Given the description of an element on the screen output the (x, y) to click on. 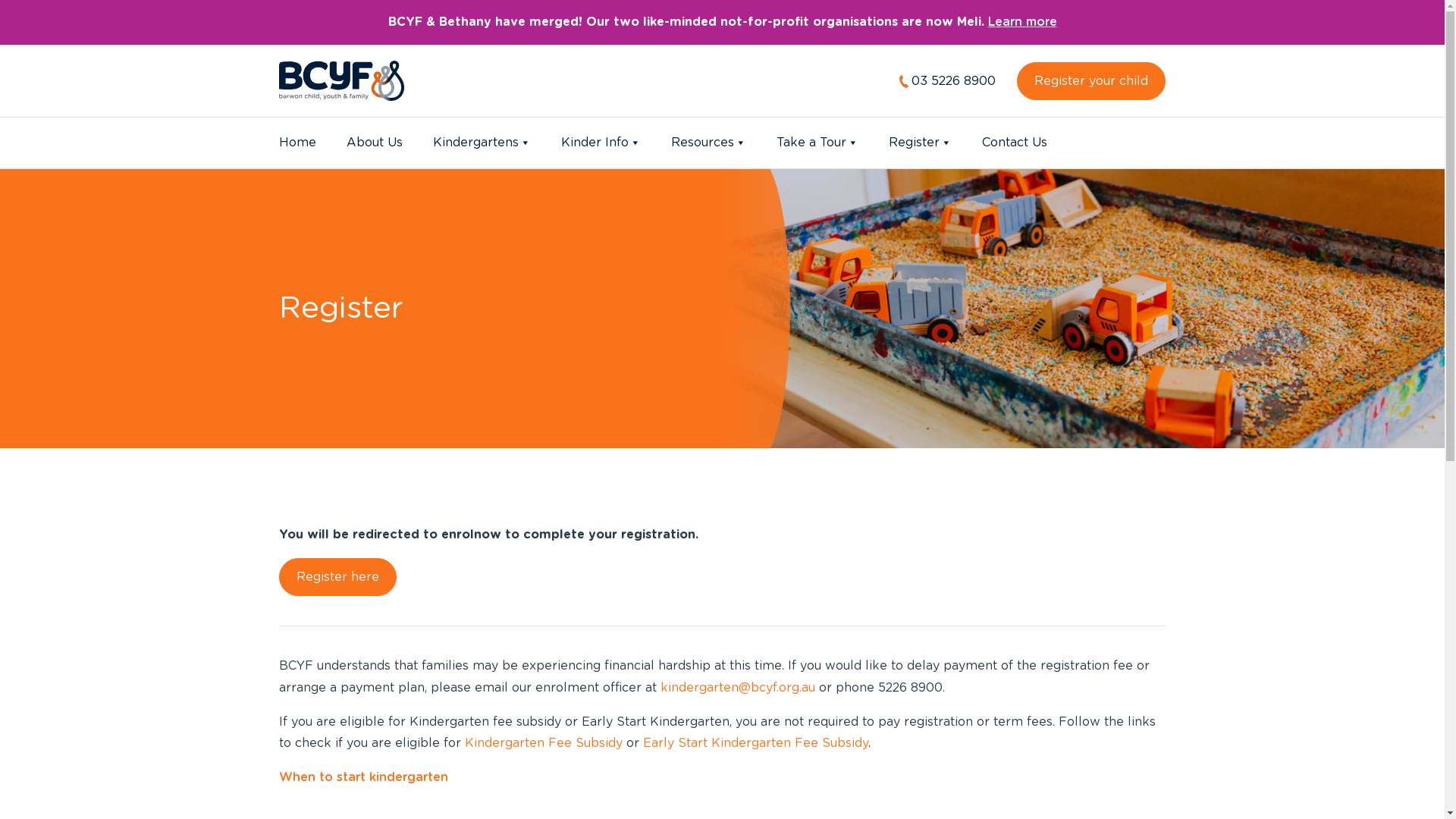
kindergarten@bcyf.org.au Element type: text (736, 687)
Resources Element type: text (707, 142)
03 5226 8900 Element type: text (947, 81)
Kindergarten Fee Subsidy Element type: text (542, 743)
Take a Tour Element type: text (817, 142)
About Us Element type: text (373, 142)
Early Start Kindergarten Fee Subsidy Element type: text (755, 743)
Contact Us Element type: text (1013, 142)
When to start kindergarten Element type: text (363, 777)
Register here Element type: text (337, 577)
Kindergartens Element type: text (481, 142)
Kinder Info Element type: text (600, 142)
Register your child Element type: text (1090, 81)
Register Element type: text (919, 142)
Home Element type: text (297, 142)
Learn more Element type: text (1021, 21)
